Given the description of an element on the screen output the (x, y) to click on. 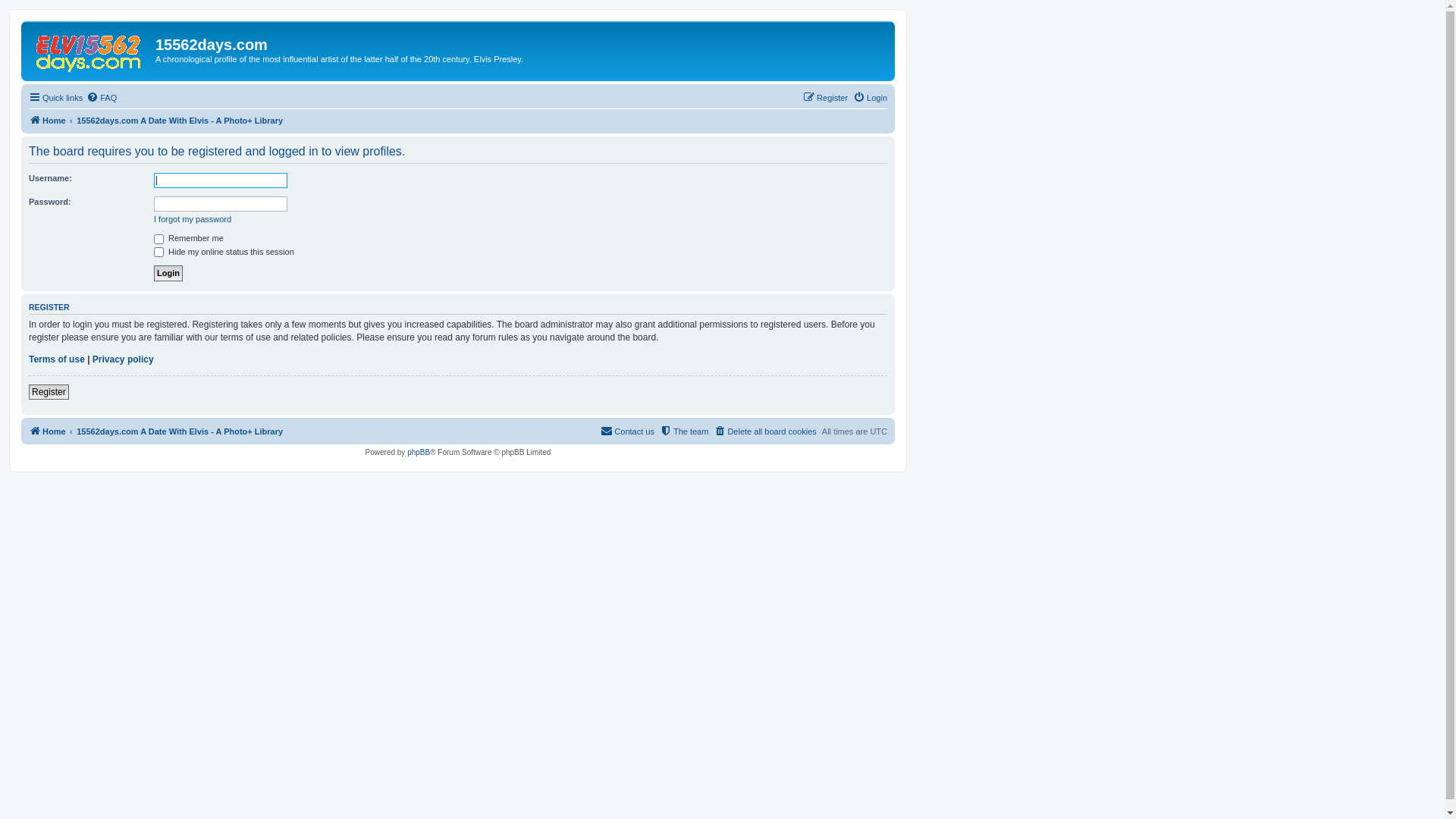
The team Element type: text (683, 431)
15562days.com A Date With Elvis - A Photo+ Library Element type: text (179, 120)
I forgot my password Element type: text (192, 218)
15562days.com A Date With Elvis - A Photo+ Library Element type: text (179, 431)
Home Element type: hover (90, 49)
FAQ Element type: text (101, 97)
Delete all board cookies Element type: text (764, 431)
Contact us Element type: text (627, 431)
Privacy policy Element type: text (122, 359)
Home Element type: text (46, 120)
Terms of use Element type: text (56, 359)
phpBB Element type: text (418, 452)
Login Element type: text (870, 97)
Home Element type: text (46, 431)
Register Element type: text (48, 391)
Register Element type: text (825, 97)
Login Element type: text (167, 273)
Quick links Element type: text (55, 97)
